Given the description of an element on the screen output the (x, y) to click on. 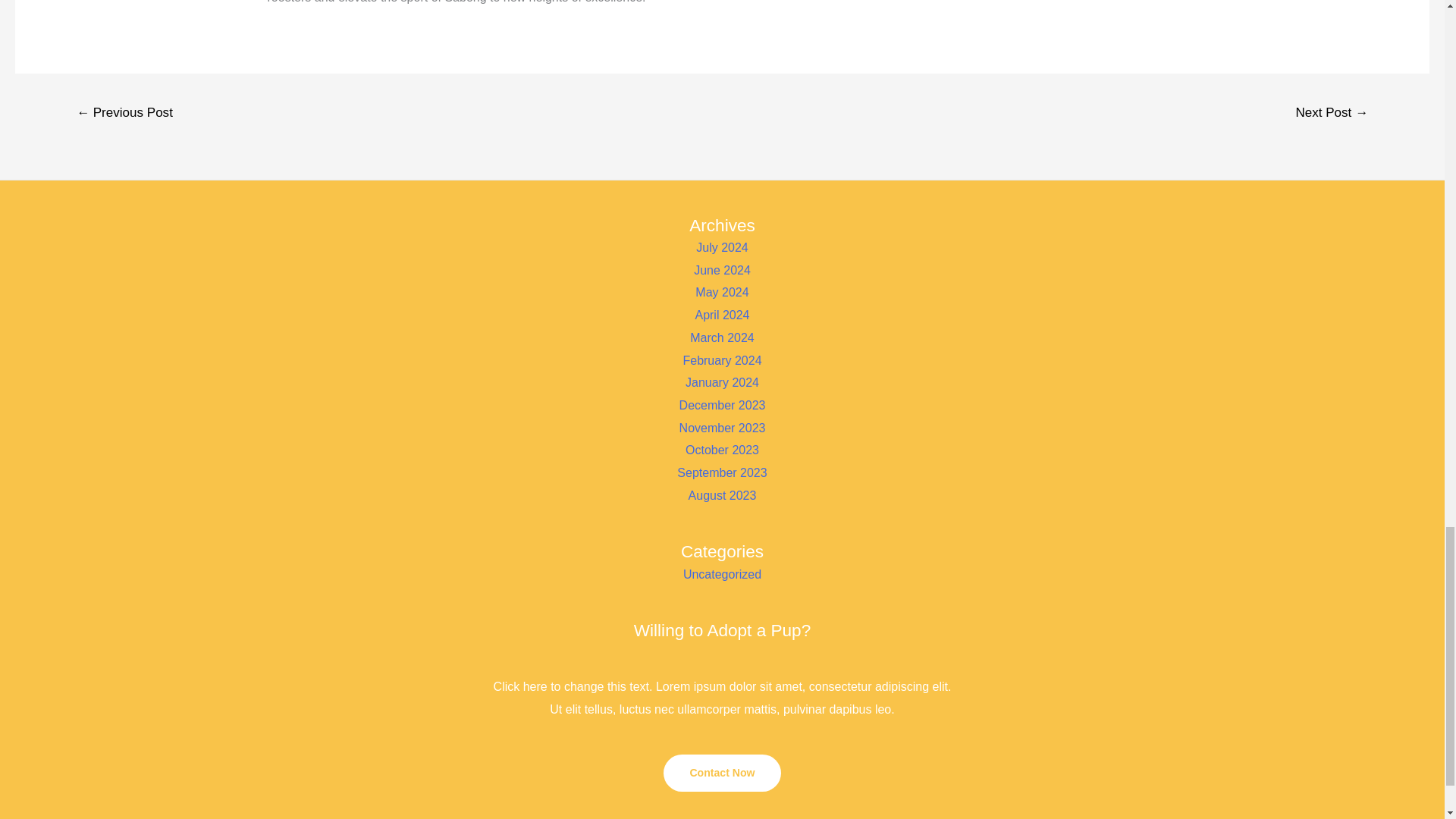
September 2023 (722, 472)
February 2024 (721, 359)
May 2024 (721, 291)
June 2024 (722, 269)
Uncategorized (721, 574)
March 2024 (722, 337)
August 2023 (722, 495)
January 2024 (721, 382)
December 2023 (722, 404)
July 2024 (721, 246)
April 2024 (721, 314)
November 2023 (722, 427)
October 2023 (721, 449)
Contact Now (721, 772)
